Given the description of an element on the screen output the (x, y) to click on. 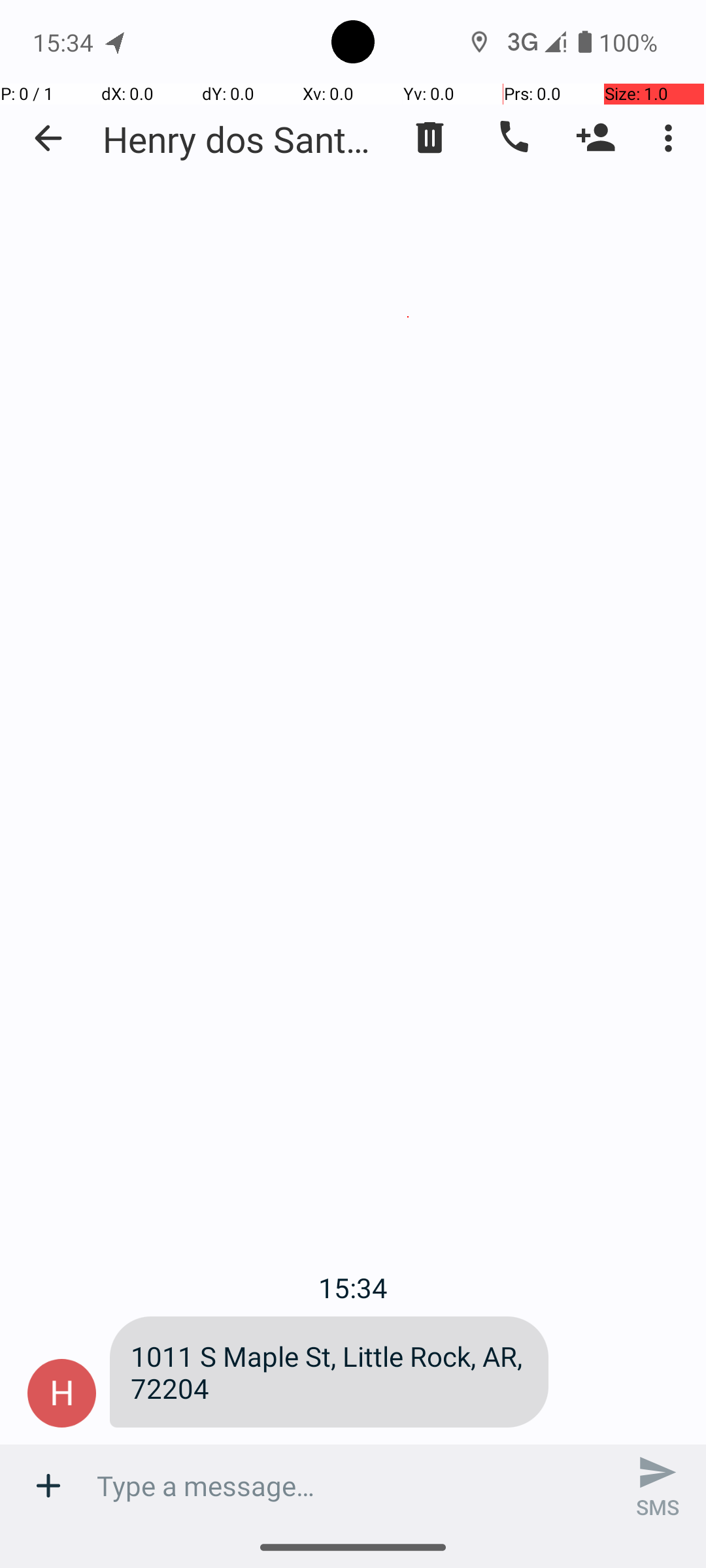
Henry dos Santos Element type: android.widget.TextView (241, 138)
1011 S Maple St, Little Rock, AR, 72204 Element type: android.widget.TextView (328, 1371)
